Given the description of an element on the screen output the (x, y) to click on. 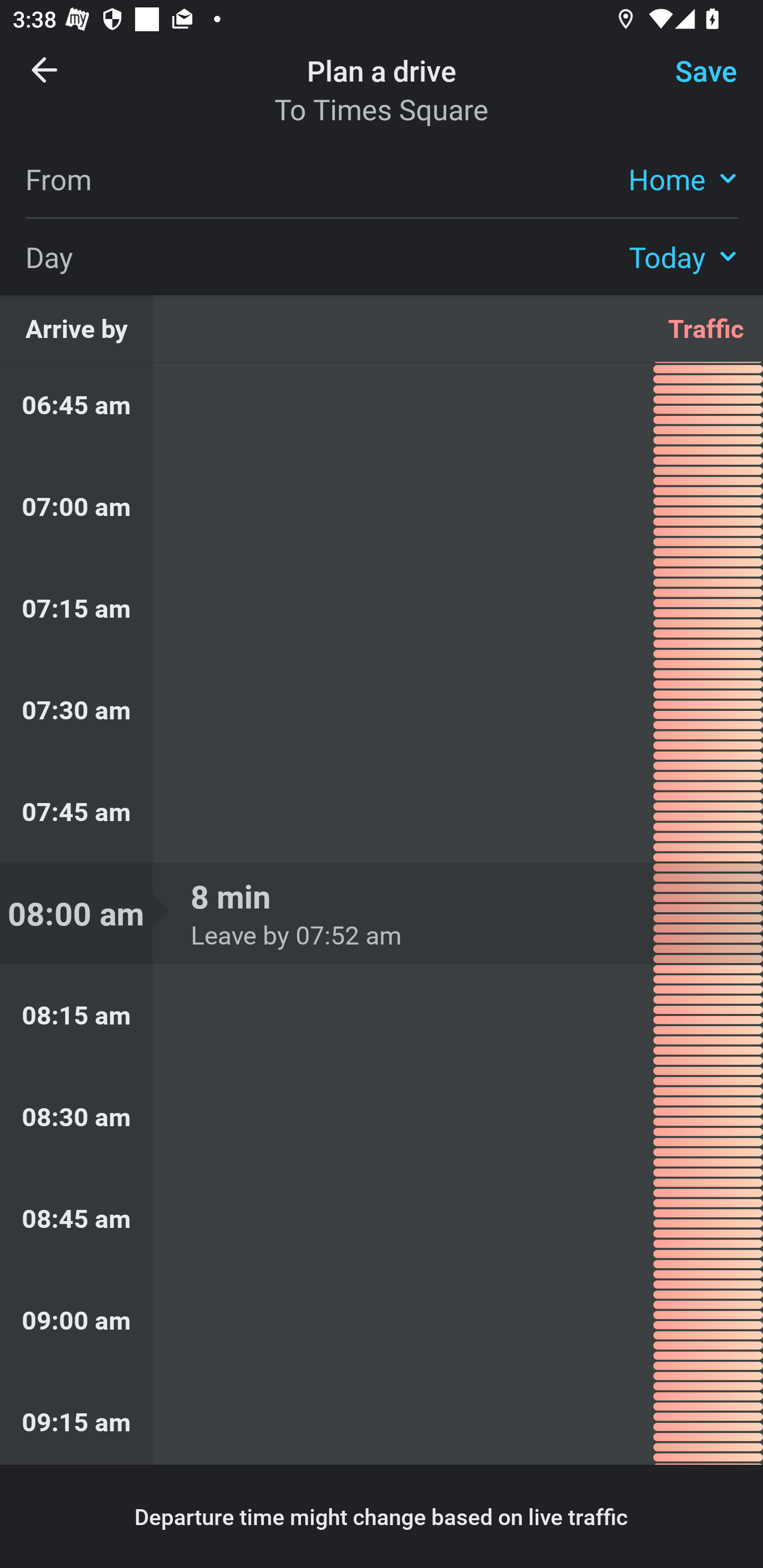
Settings (690, 82)
Home (682, 178)
Today (682, 255)
06:45 am (381, 409)
07:00 am (381, 506)
07:15 am (381, 607)
07:30 am (381, 709)
07:45 am (381, 811)
08:00 am 8 min Leave by 07:52 am (381, 913)
08:15 am (381, 1015)
08:30 am (381, 1117)
08:45 am (381, 1218)
09:00 am (381, 1319)
09:15 am (381, 1417)
